Given the description of an element on the screen output the (x, y) to click on. 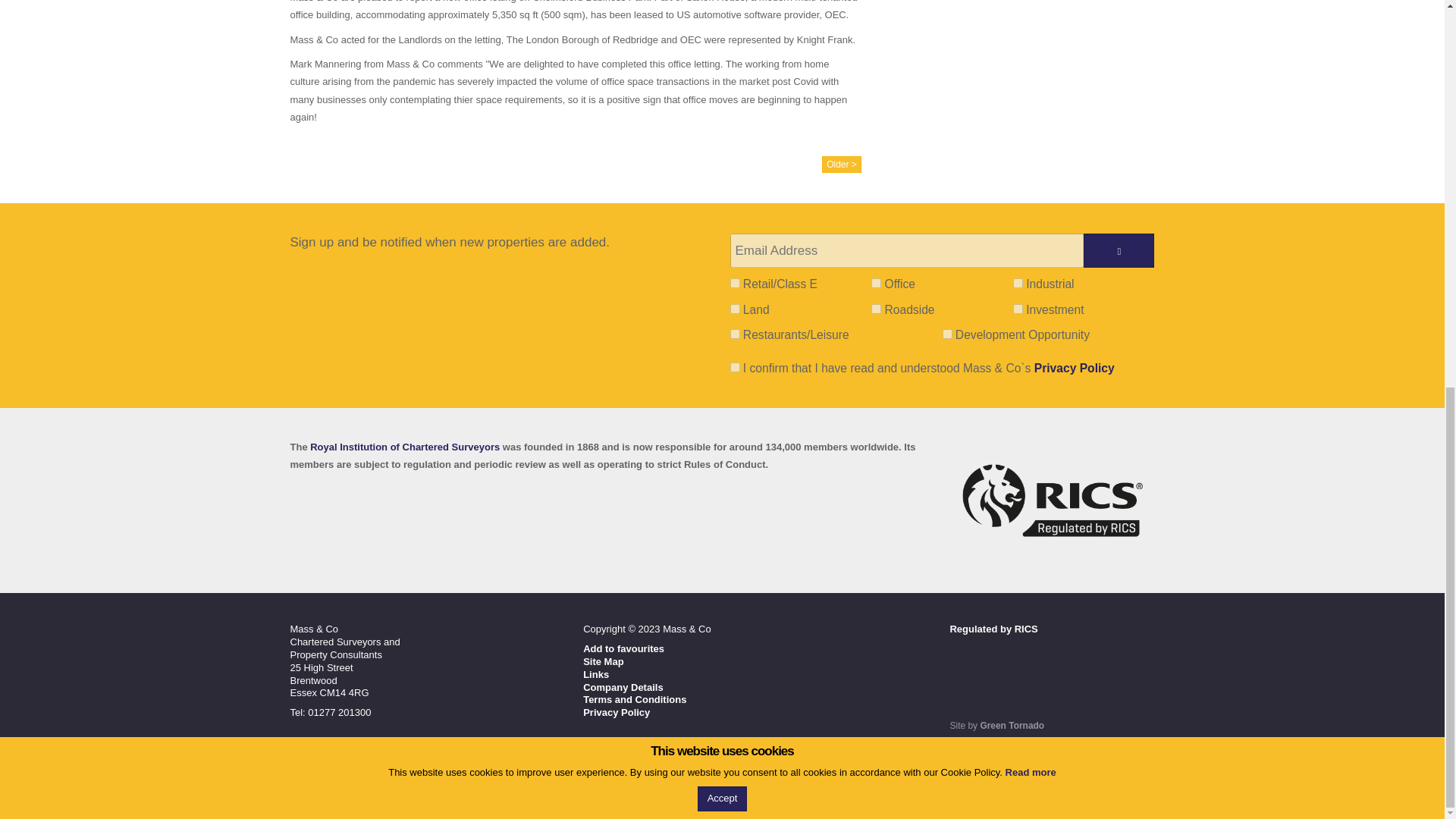
Site Map (603, 661)
1 (734, 308)
1 (734, 367)
1 (947, 334)
1 (1018, 308)
Terms and Conditions (634, 699)
1 (1018, 283)
1 (734, 283)
Company Details (622, 686)
Links (595, 674)
